Given the description of an element on the screen output the (x, y) to click on. 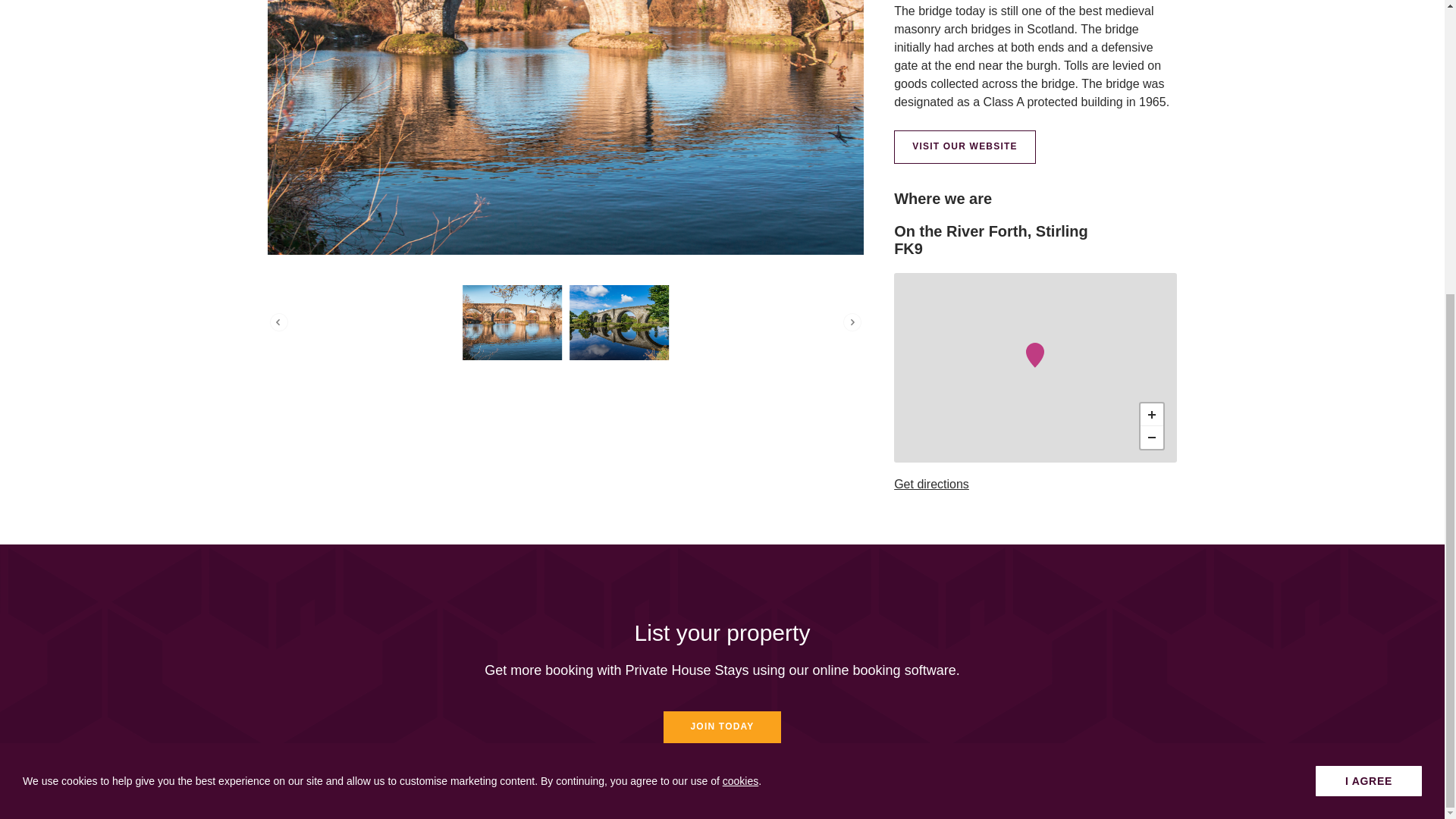
Zoom in (1151, 414)
Zoom out (1151, 436)
